Given the description of an element on the screen output the (x, y) to click on. 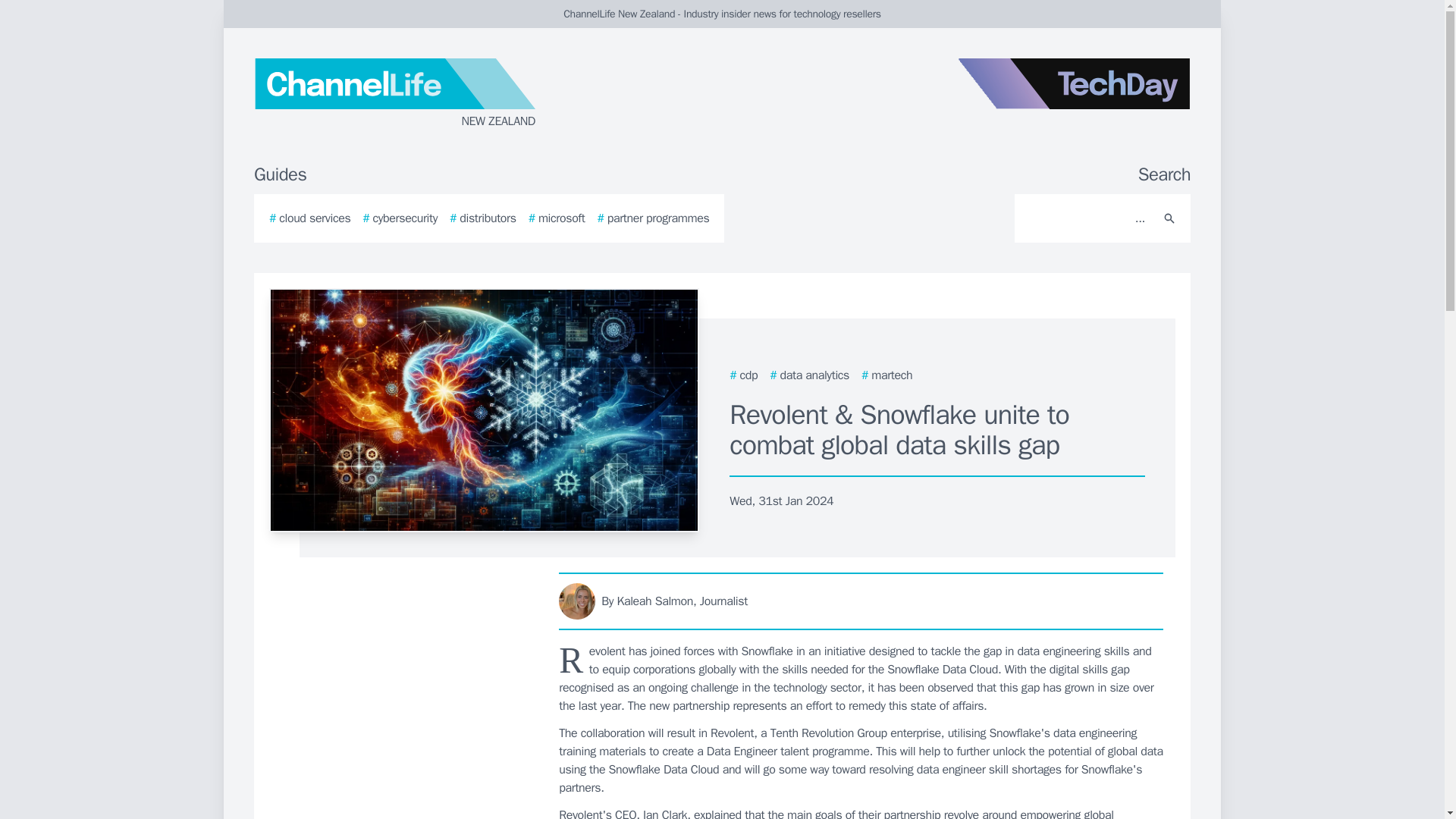
NEW ZEALAND (435, 94)
By Kaleah Salmon, Journalist (861, 601)
